Given the description of an element on the screen output the (x, y) to click on. 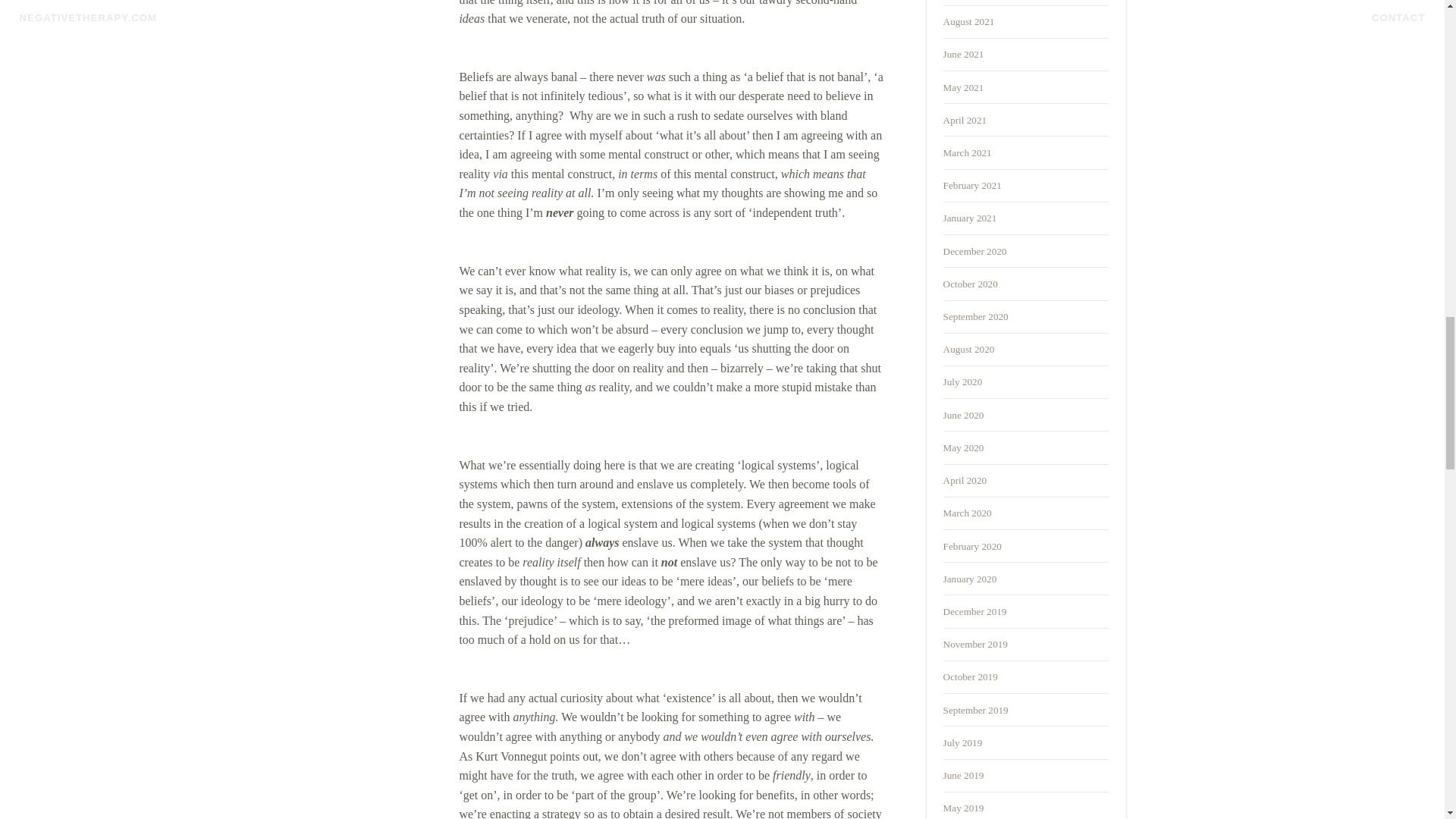
August 2021 (968, 21)
June 2021 (963, 53)
May 2021 (963, 87)
